Given the description of an element on the screen output the (x, y) to click on. 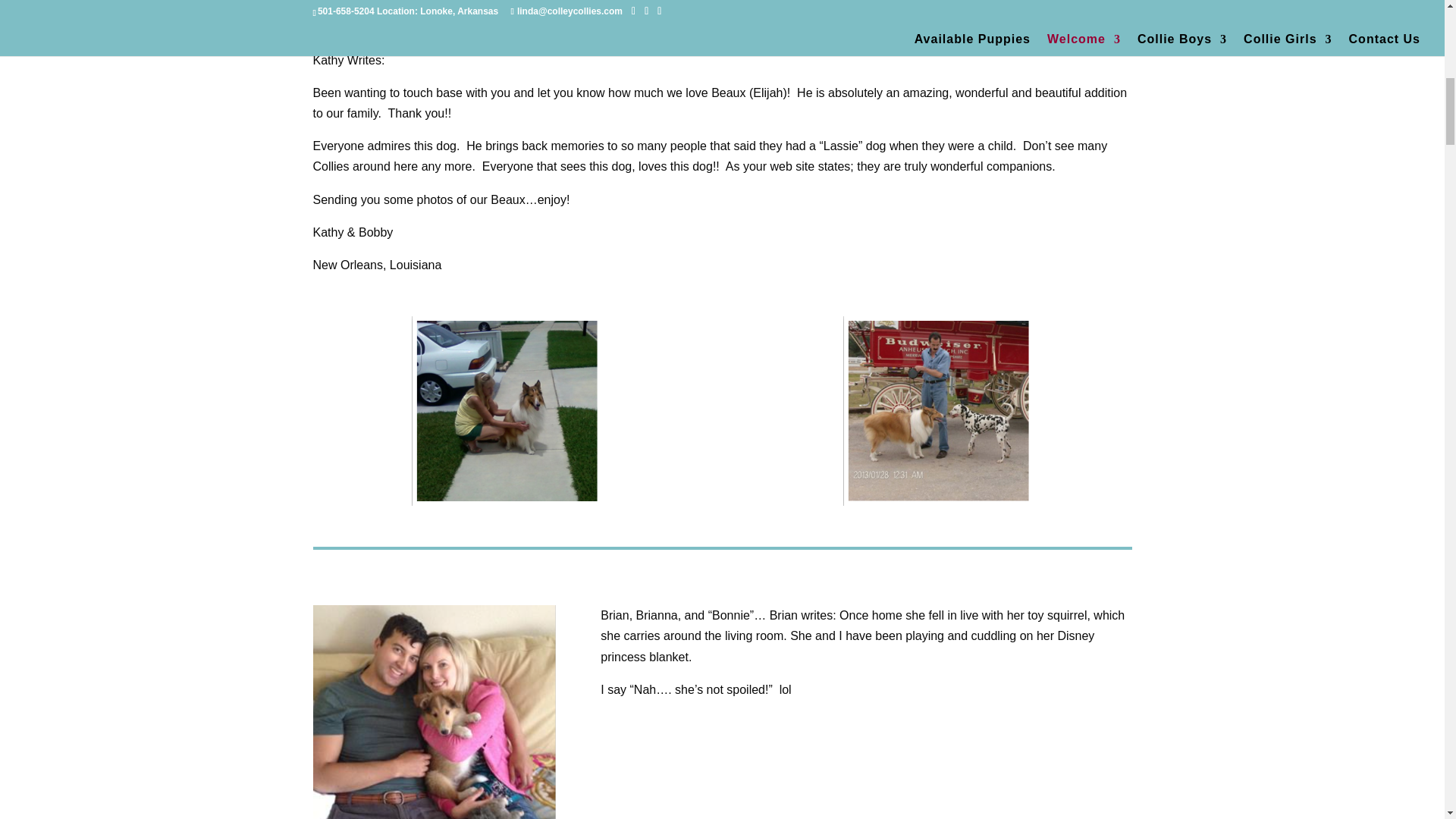
2-Breanne (433, 712)
1-KathyBobbyBeaux2 (937, 411)
1-KathyBobbyBeaux (506, 411)
